Given the description of an element on the screen output the (x, y) to click on. 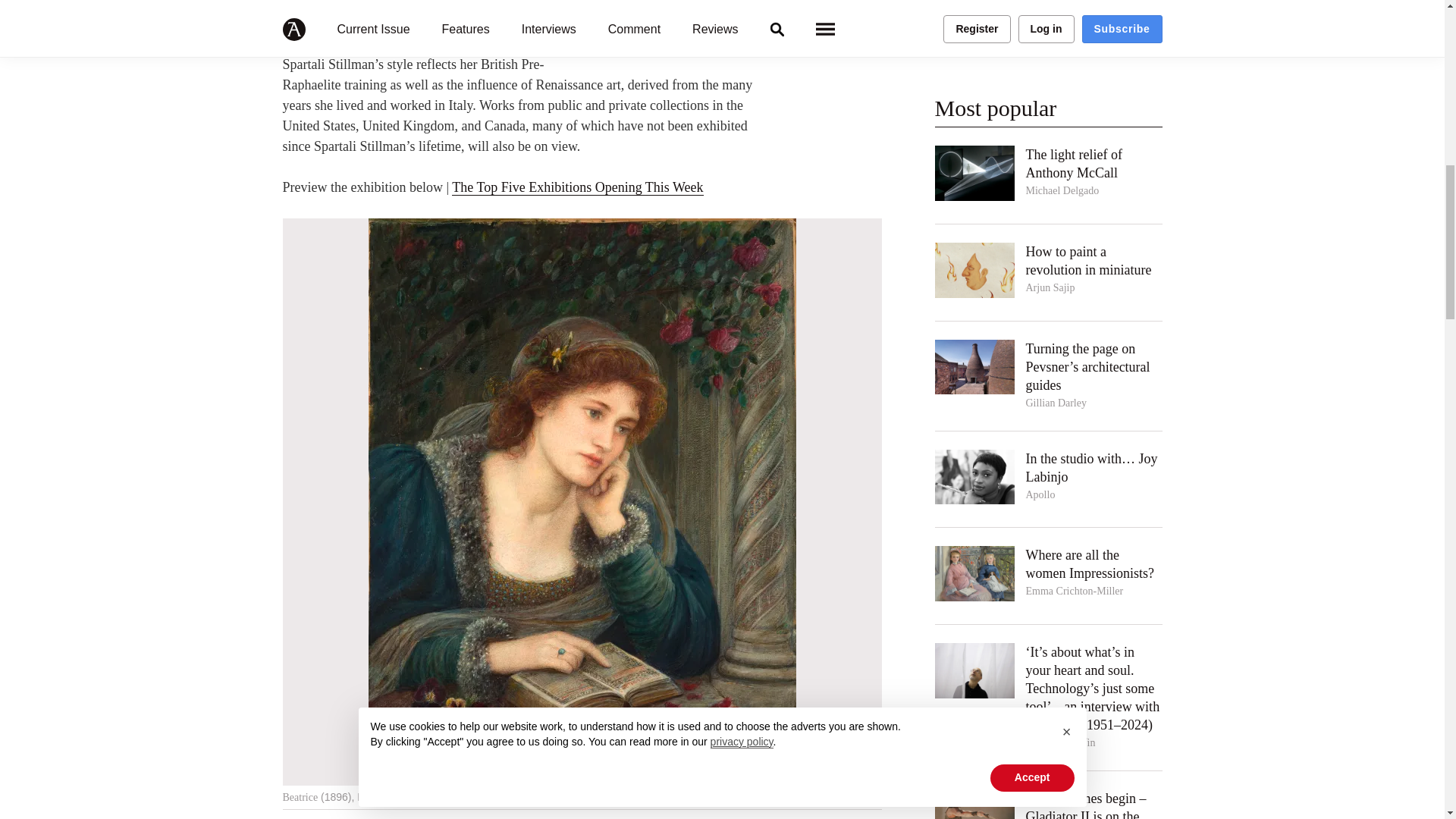
3rd party ad content (1047, 36)
